Given the description of an element on the screen output the (x, y) to click on. 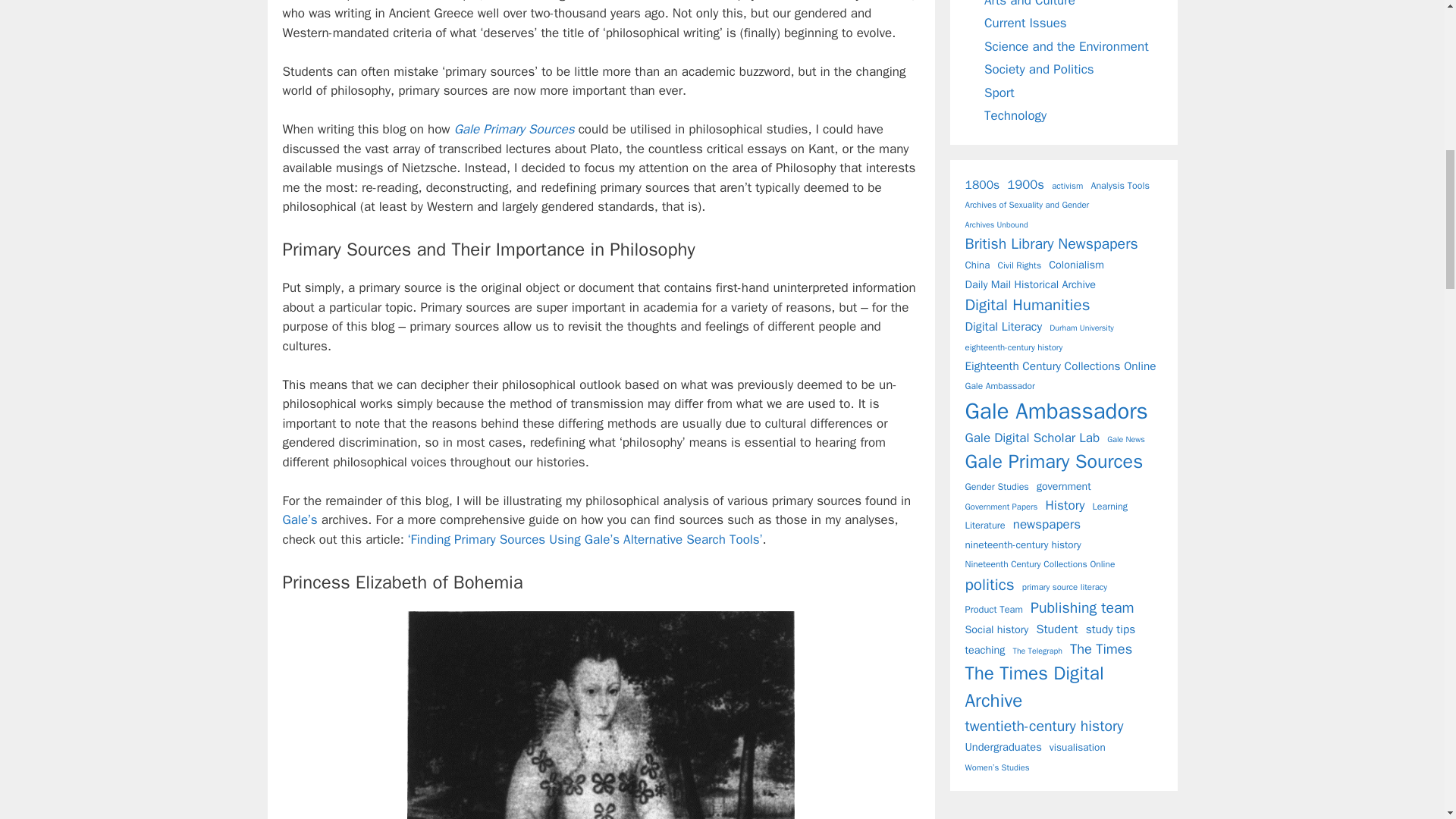
Gale Primary Sources (514, 129)
